Given the description of an element on the screen output the (x, y) to click on. 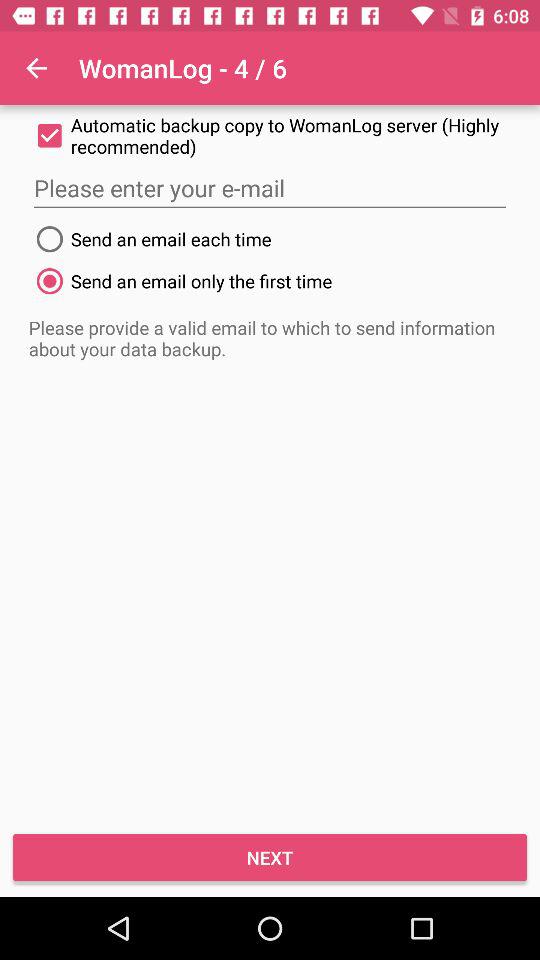
press icon to the left of the womanlog - 4 / 6 app (36, 68)
